Given the description of an element on the screen output the (x, y) to click on. 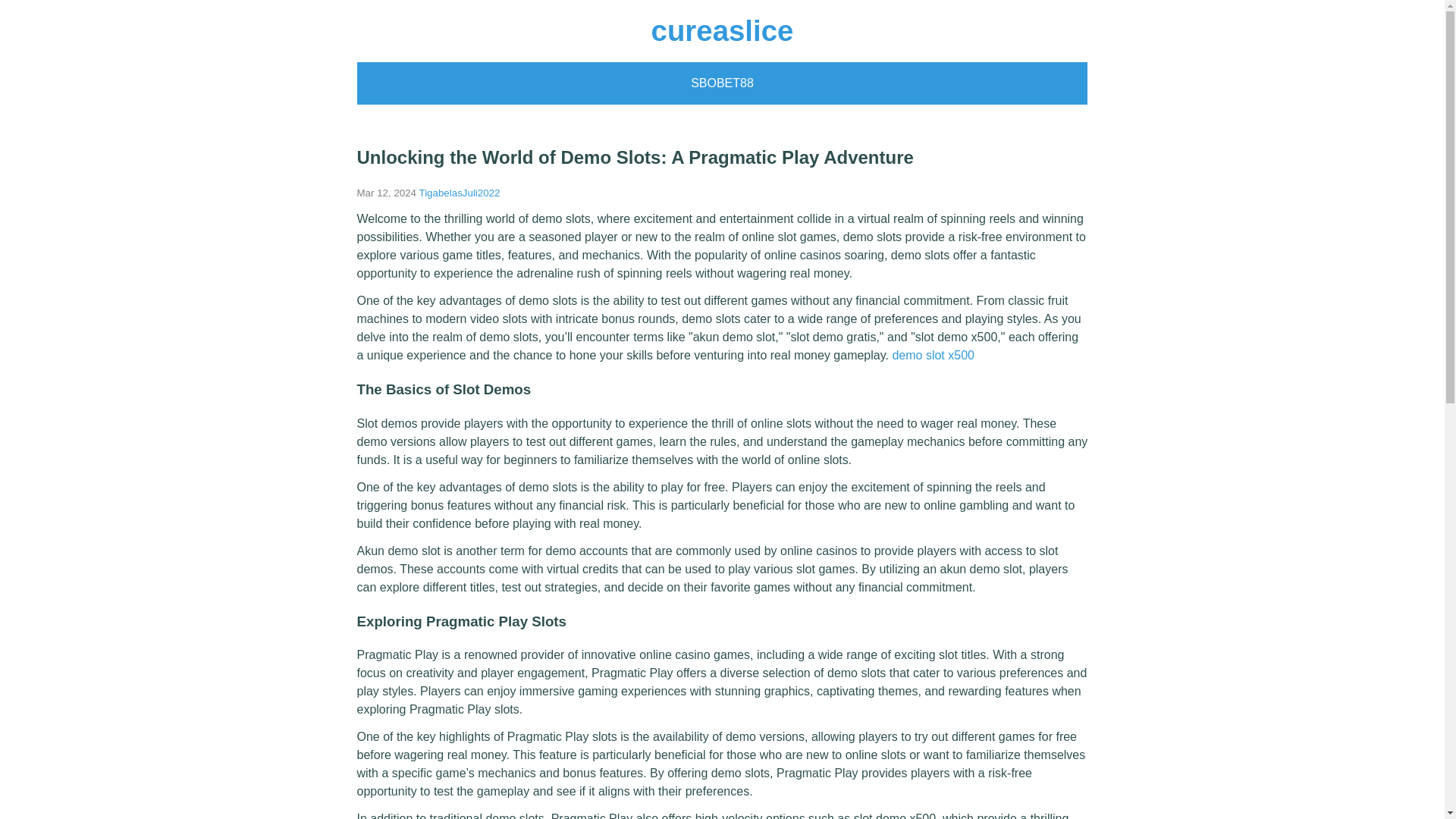
SBOBET88 (722, 82)
cureaslice (721, 30)
TigabelasJuli2022 (459, 193)
demo slot x500 (932, 354)
